Given the description of an element on the screen output the (x, y) to click on. 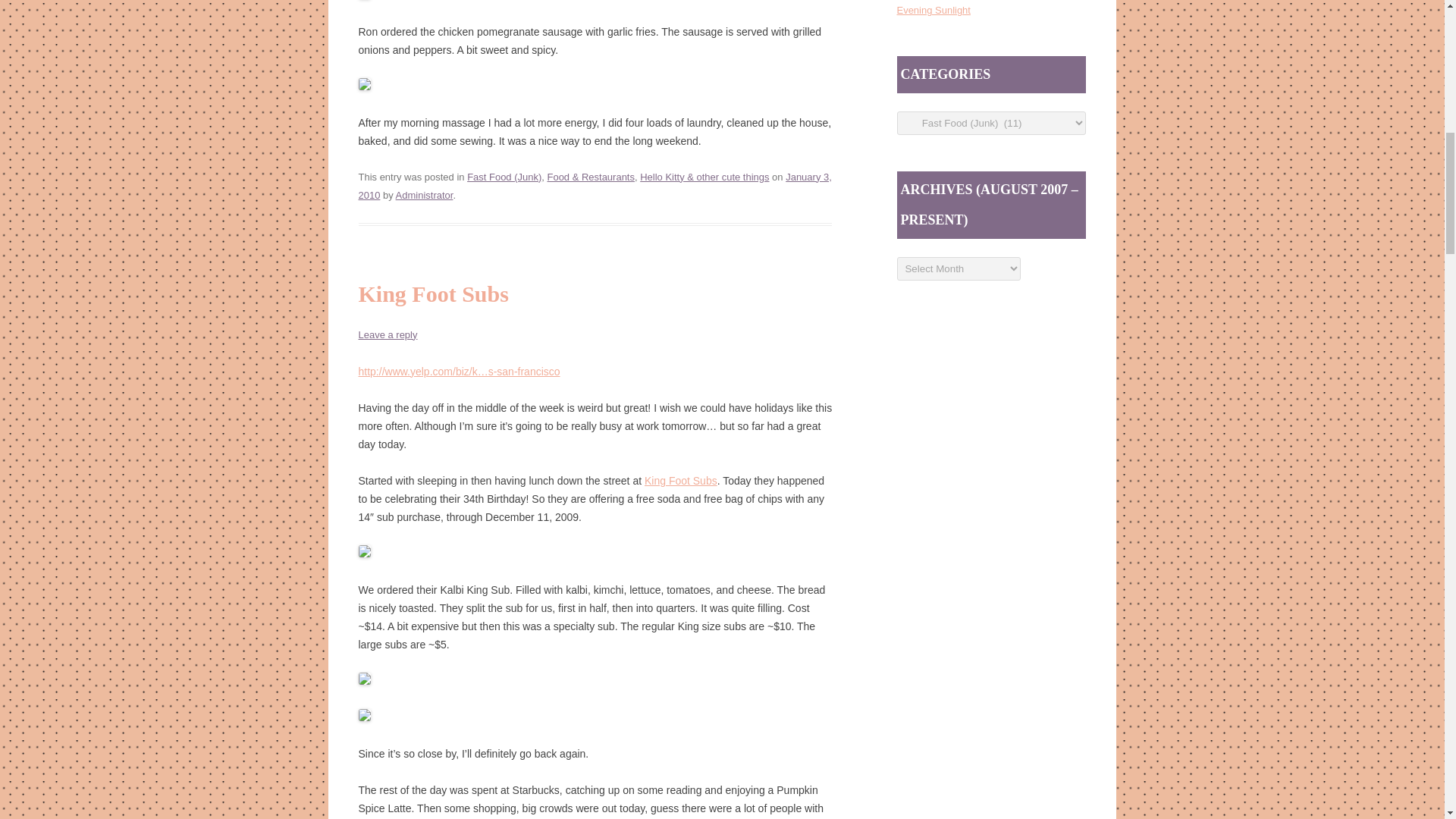
View all posts by Administrator (424, 194)
Administrator (424, 194)
King Foot Subs (433, 293)
January 3, 2010 (594, 185)
King Foot Subs (681, 480)
Leave a reply (387, 334)
9:36 pm (594, 185)
